Given the description of an element on the screen output the (x, y) to click on. 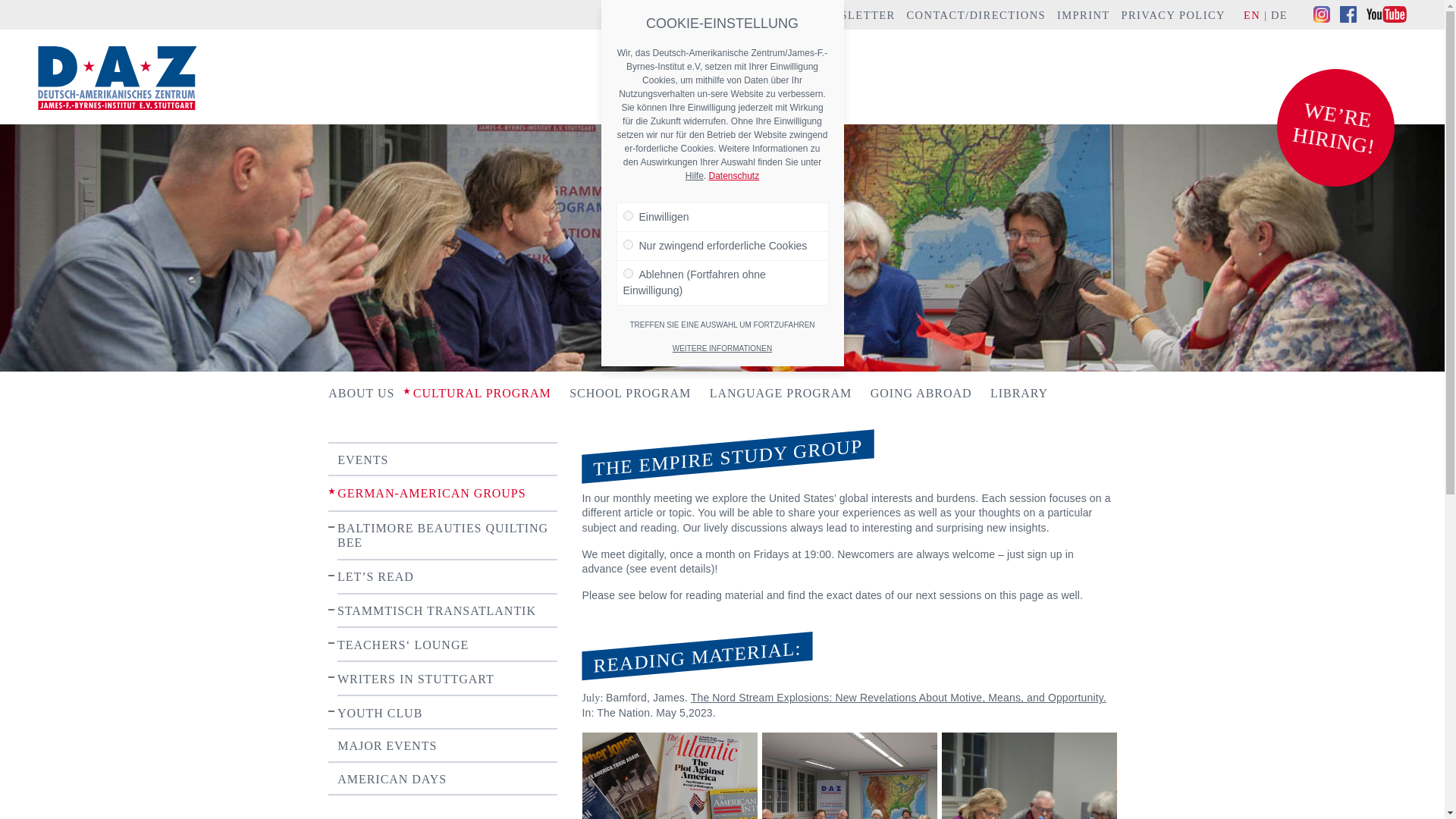
IMPRINT (1083, 15)
SUCHEN (782, 14)
FACEBOOK (1347, 13)
all (628, 215)
YOUTUBE (1386, 13)
first-party (628, 244)
PRIVACY POLICY (1173, 15)
reject-all (628, 273)
NEWSLETTER (853, 15)
INSTAGRAM (1321, 13)
EN (1251, 15)
DE (1279, 15)
